Given the description of an element on the screen output the (x, y) to click on. 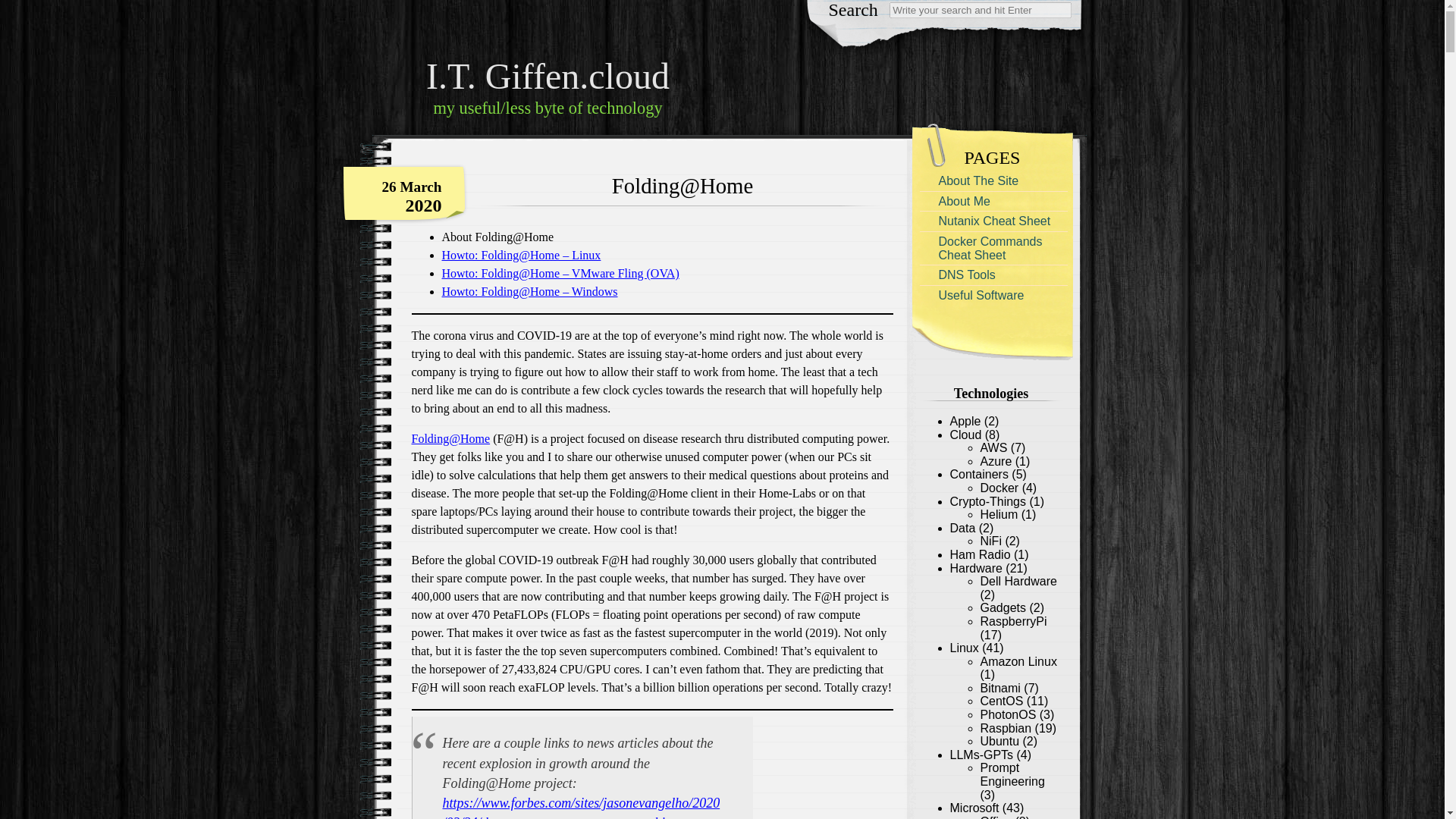
I.T. Giffen.cloud (547, 67)
Search (980, 10)
Search (21, 7)
